Given the description of an element on the screen output the (x, y) to click on. 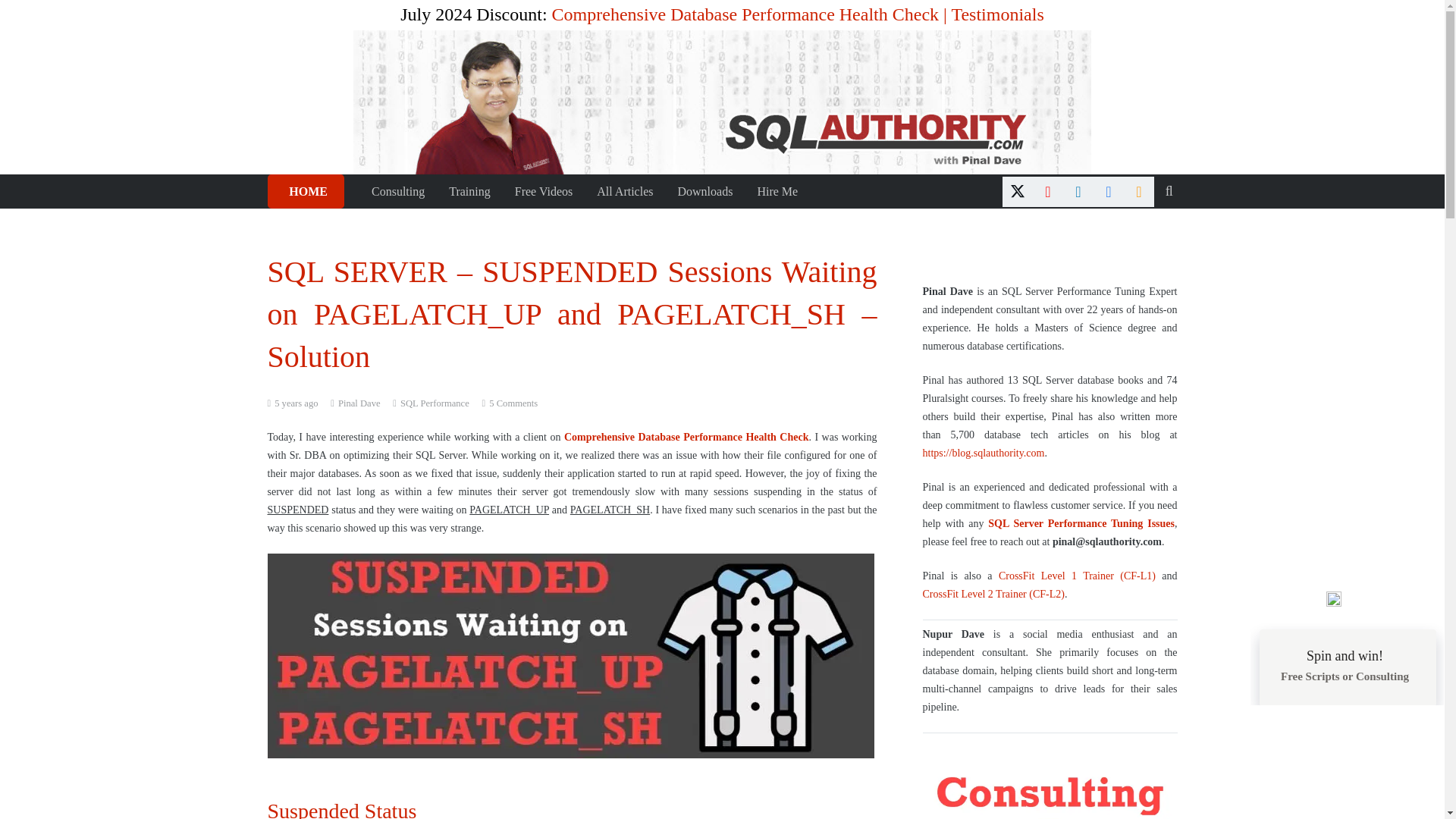
SQL Performance (434, 403)
Pinal Dave (358, 402)
Testimonials (996, 14)
RSS (1139, 191)
Comprehensive Database Performance Health Check (745, 14)
Twitter (1017, 191)
Downloads (704, 191)
Comprehensive Database Performance Health Check (686, 437)
HOME (304, 191)
Facebook (1108, 191)
Hire Me (776, 191)
All Articles (625, 191)
Consulting (397, 191)
Free Videos (543, 191)
Training (469, 191)
